Given the description of an element on the screen output the (x, y) to click on. 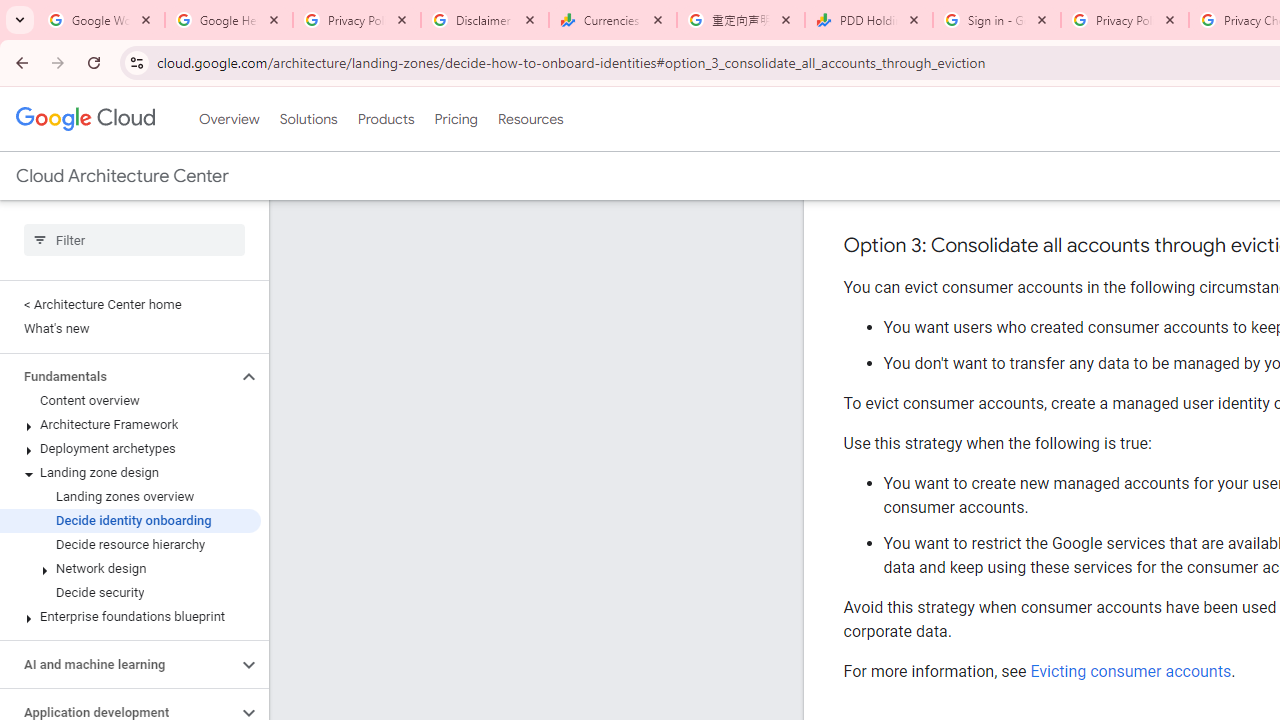
Products (385, 119)
< Architecture Center home (130, 304)
Content overview (130, 400)
Type to filter (134, 239)
Decide identity onboarding (130, 520)
Pricing (455, 119)
AI and machine learning (118, 664)
Network design (130, 569)
Decide resource hierarchy (130, 544)
Landing zones overview (130, 497)
